Given the description of an element on the screen output the (x, y) to click on. 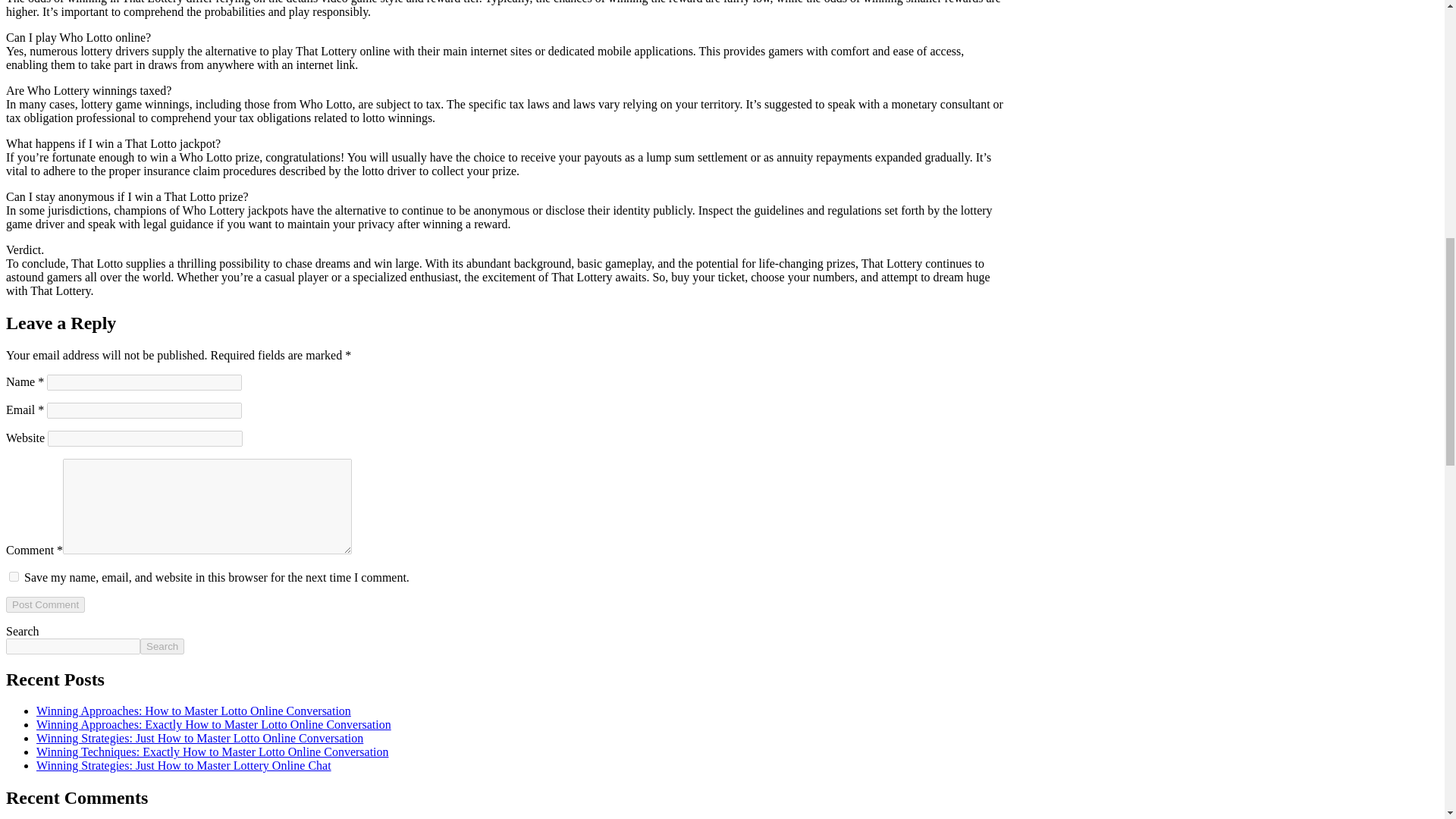
Search (161, 646)
Winning Approaches: How to Master Lotto Online Conversation (193, 710)
yes (13, 576)
Post Comment (44, 604)
Post Comment (44, 604)
Winning Strategies: Just How to Master Lottery Online Chat (183, 765)
